Given the description of an element on the screen output the (x, y) to click on. 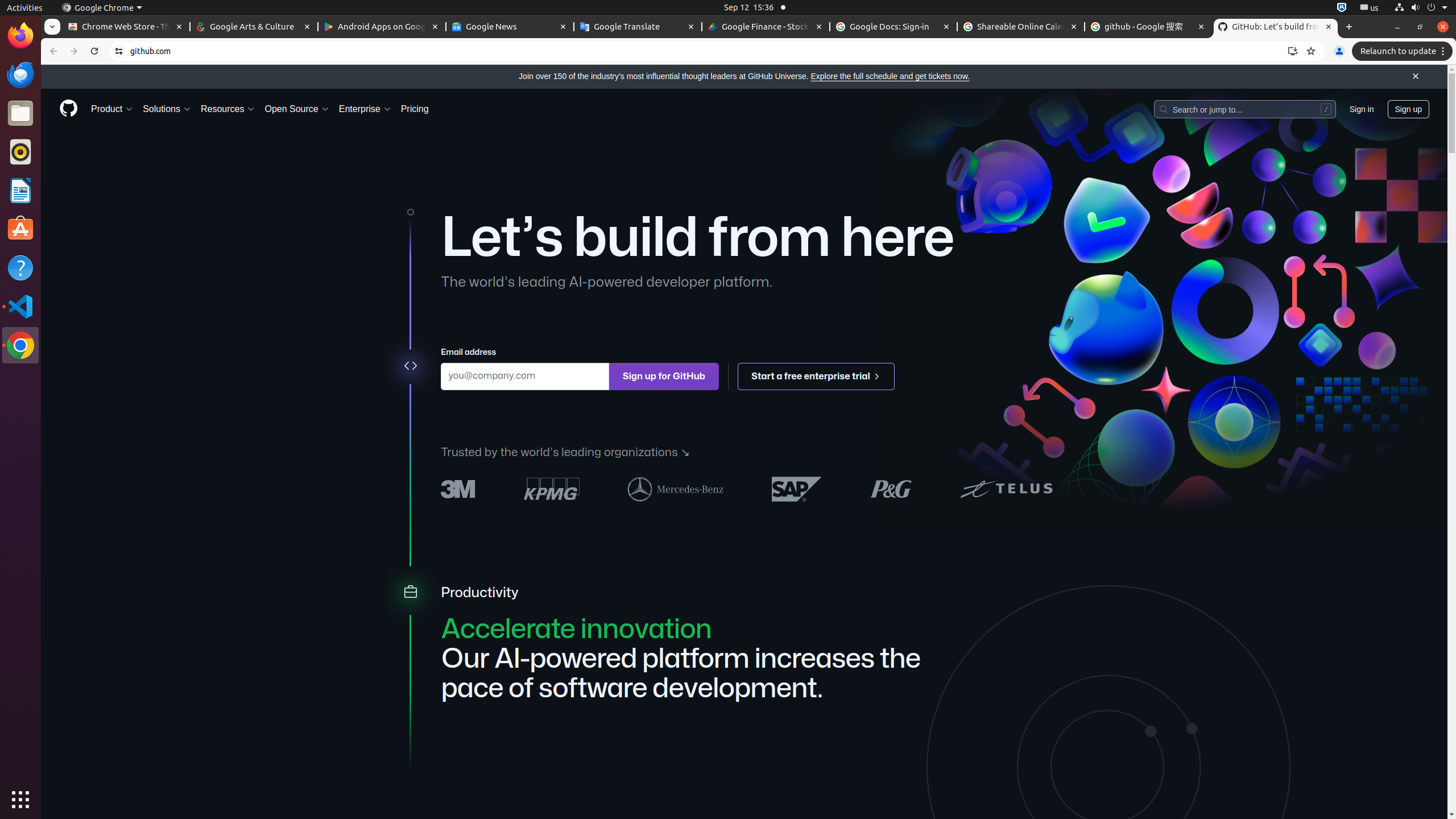
LibreOffice Writer Element type: push-button (20, 190)
Search or jump to… Element type: push-button (1244, 108)
Visual Studio Code Element type: push-button (20, 306)
You Element type: push-button (1339, 50)
Back Element type: push-button (51, 50)
